Given the description of an element on the screen output the (x, y) to click on. 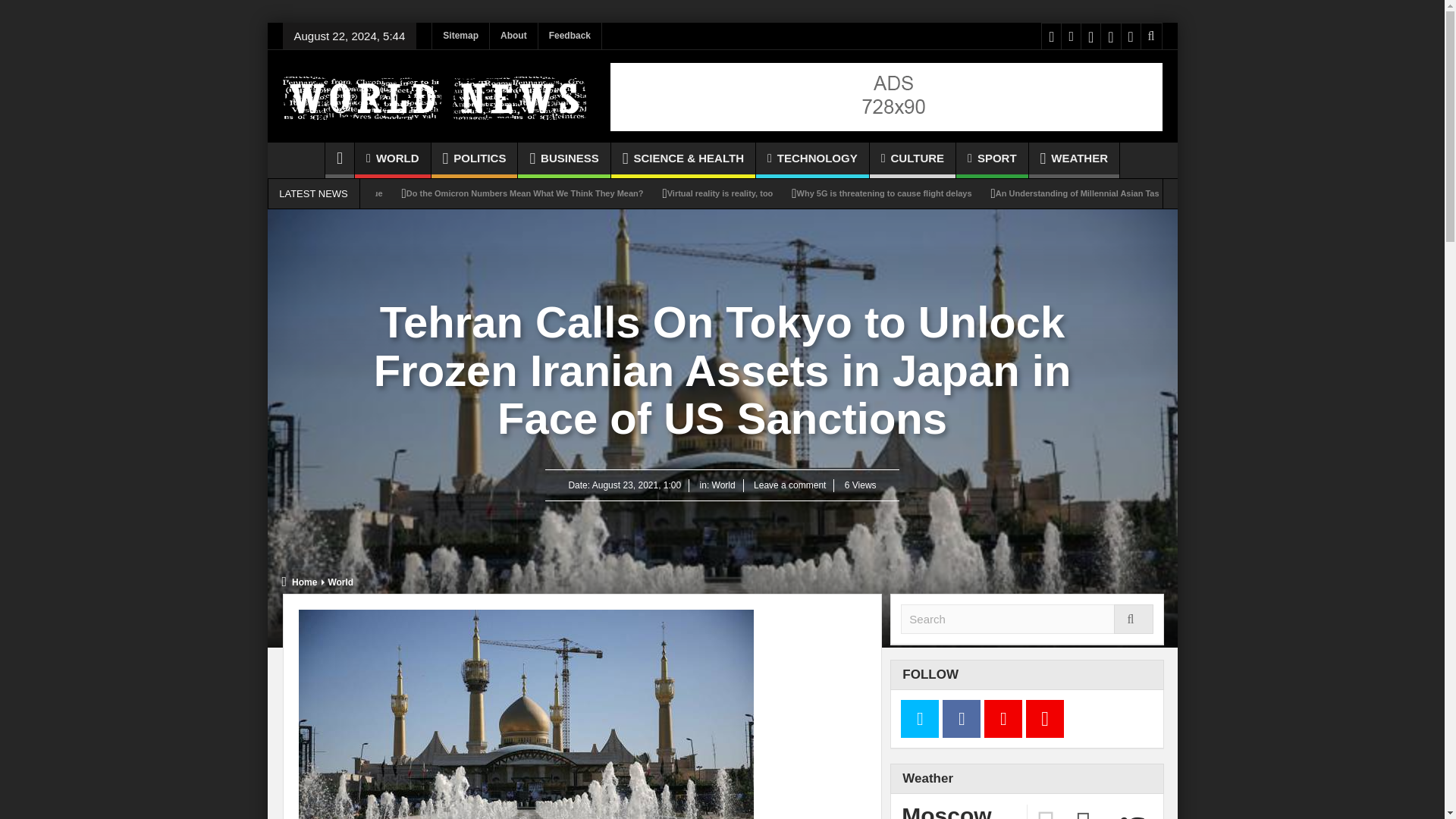
Virtual reality is reality, too (719, 193)
World (339, 581)
POLITICS (474, 160)
Feedback (569, 35)
Do the Omicron Numbers Mean What We Think They Mean? (524, 193)
World news (433, 96)
An Understanding of Millennial Asian Taste, at Hupo (1098, 193)
Sitemap (460, 35)
Why 5G is threatening to cause flight delays (884, 193)
BUSINESS (564, 160)
